Given the description of an element on the screen output the (x, y) to click on. 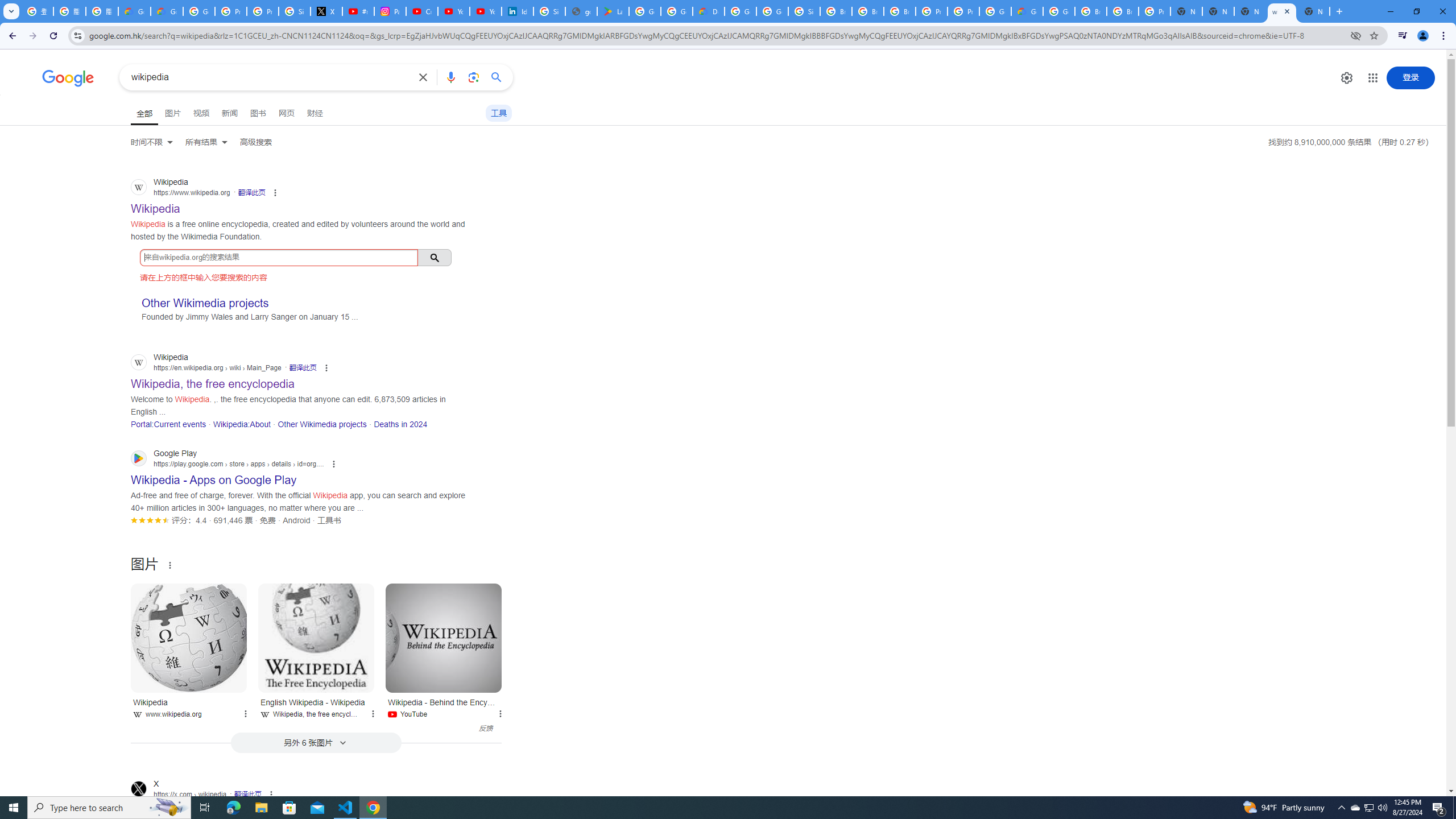
Browse Chrome as a guest - Computer - Google Chrome Help (899, 11)
Last Shelter: Survival - Apps on Google Play (613, 11)
Browse Chrome as a guest - Computer - Google Chrome Help (1123, 11)
